Given the description of an element on the screen output the (x, y) to click on. 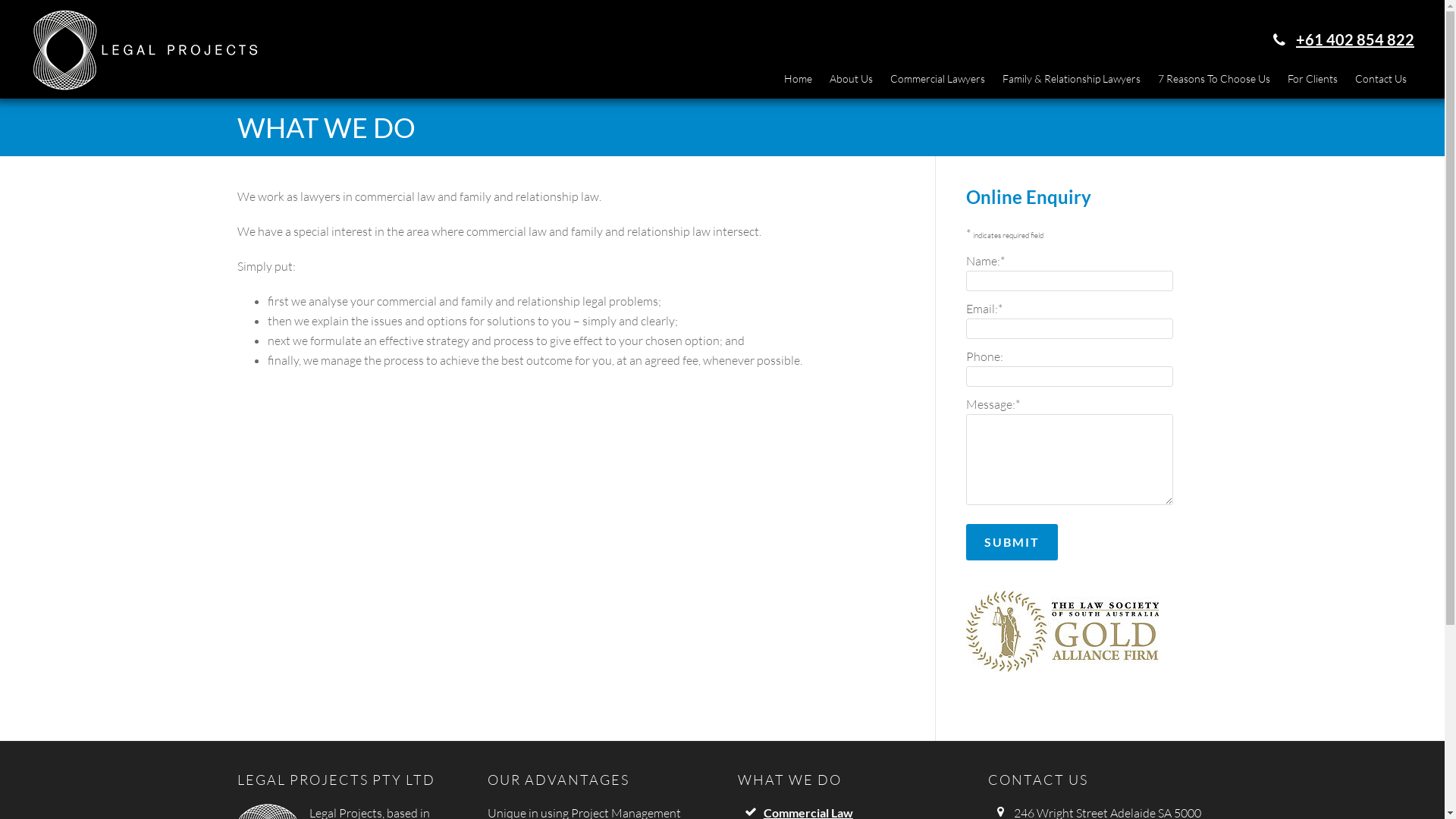
Family & Relationship Lawyers Element type: text (1071, 78)
Commercial Lawyers Element type: text (937, 78)
+61 402 854 822 Element type: text (1354, 39)
Legal Projects Pty Ltd Element type: hover (143, 81)
7 Reasons To Choose Us Element type: text (1213, 78)
Contact Us Element type: text (1380, 78)
Submit Element type: text (1011, 542)
For Clients Element type: text (1312, 78)
Home Element type: text (797, 78)
About Us Element type: text (851, 78)
